Given the description of an element on the screen output the (x, y) to click on. 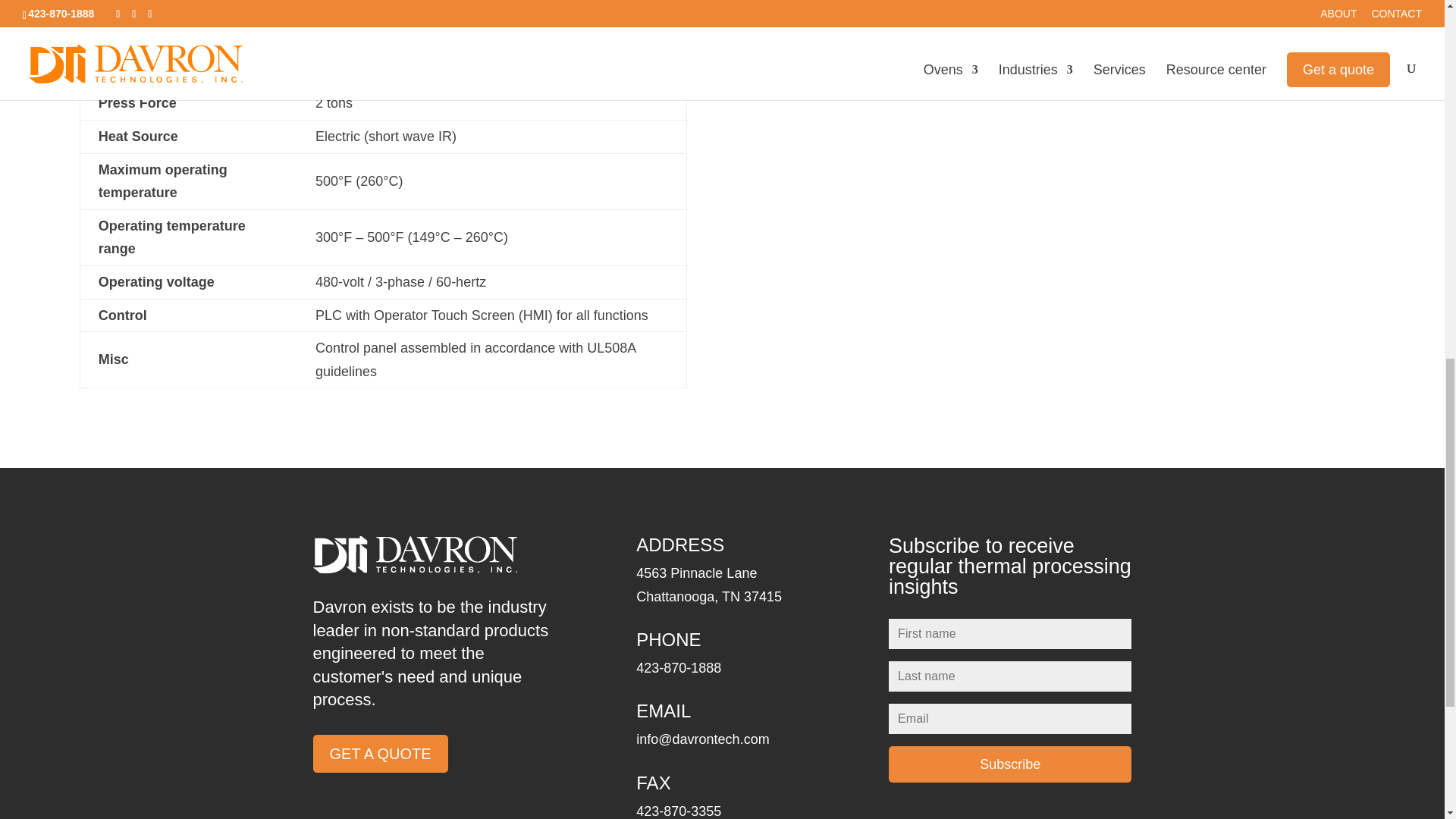
Subscribe (1009, 764)
